Given the description of an element on the screen output the (x, y) to click on. 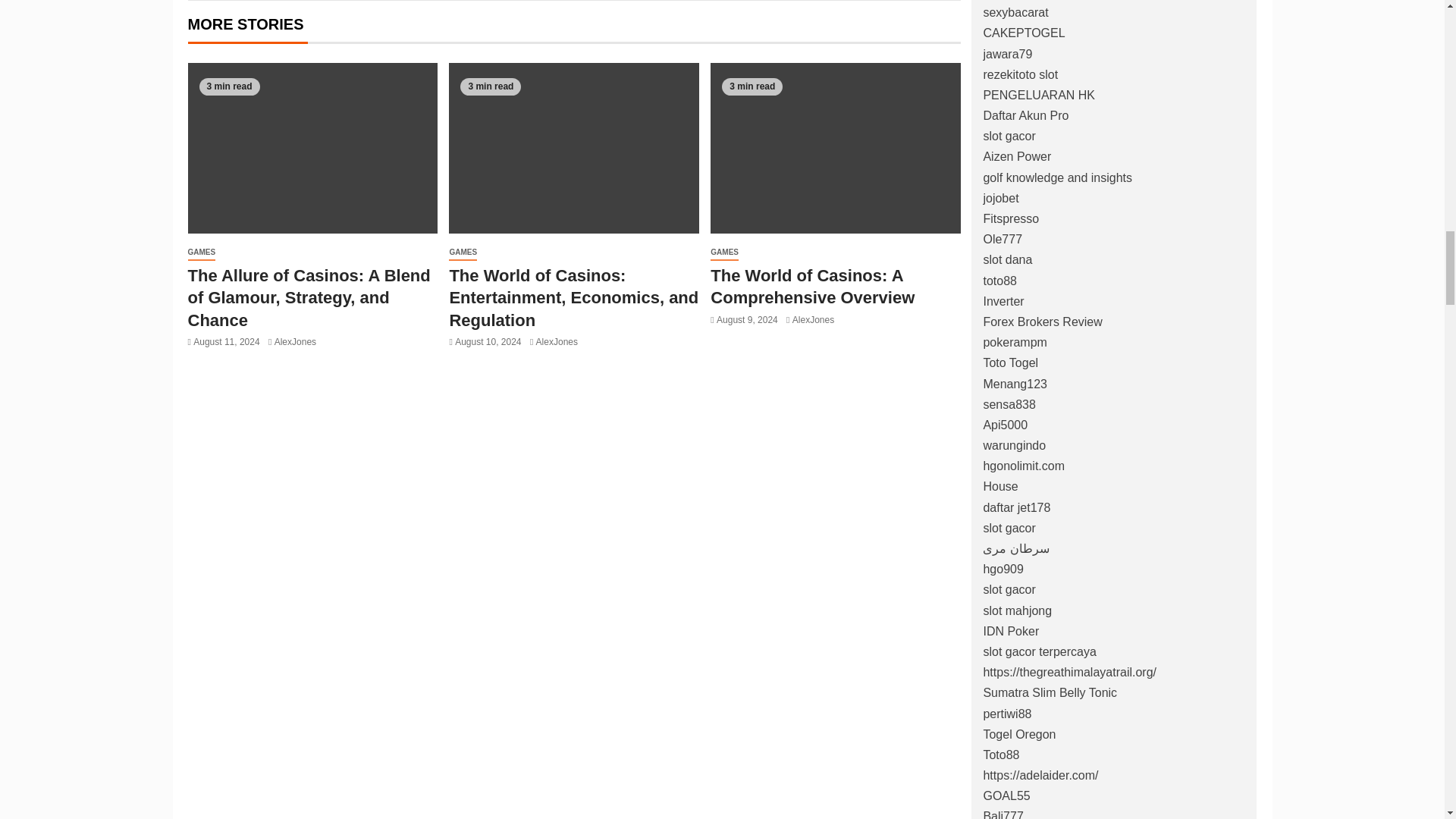
jojobet (999, 197)
GAMES (201, 252)
AlexJones (295, 341)
